Given the description of an element on the screen output the (x, y) to click on. 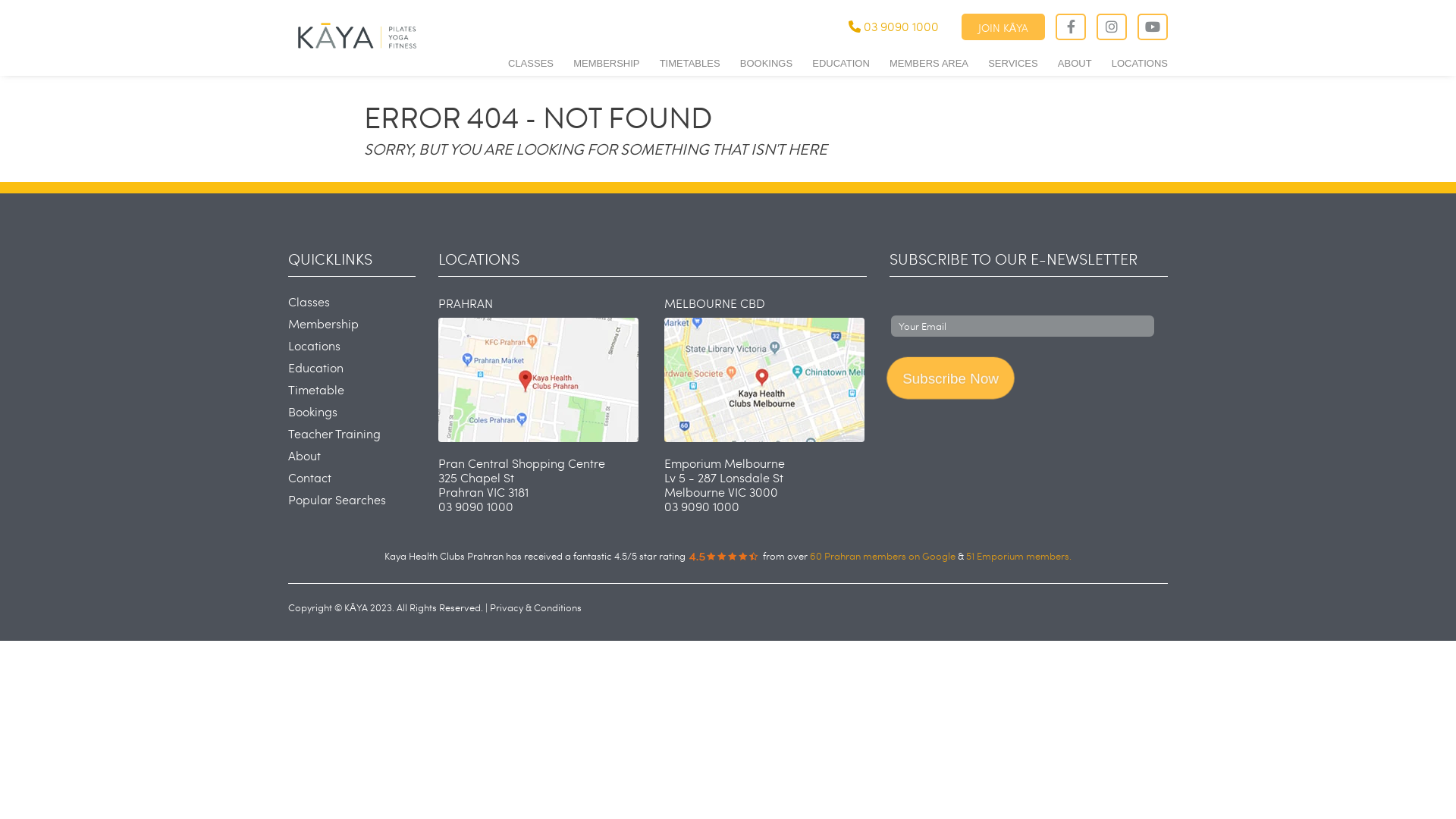
Membership Element type: text (323, 323)
Popular Searches Element type: text (336, 499)
LOCATIONS Element type: text (1139, 60)
EDUCATION Element type: text (840, 60)
About Element type: text (304, 455)
Contact Element type: text (309, 477)
Timetable Element type: text (316, 389)
Classes Element type: text (308, 301)
Education Element type: text (315, 367)
MEMBERSHIP Element type: text (606, 60)
MEMBERS AREA Element type: text (928, 60)
03 9090 1000 Element type: text (893, 26)
SERVICES Element type: text (1013, 60)
CLASSES Element type: text (530, 60)
Privacy & Conditions Element type: text (535, 607)
BOOKINGS Element type: text (766, 60)
TIMETABLES Element type: text (689, 60)
Teacher Training Element type: text (334, 433)
60 Prahran members on Google Element type: text (882, 555)
Bookings Element type: text (312, 411)
Locations Element type: text (314, 345)
ABOUT Element type: text (1074, 60)
51 Emporium members. Element type: text (1018, 555)
Subscribe Now Element type: text (949, 377)
